Given the description of an element on the screen output the (x, y) to click on. 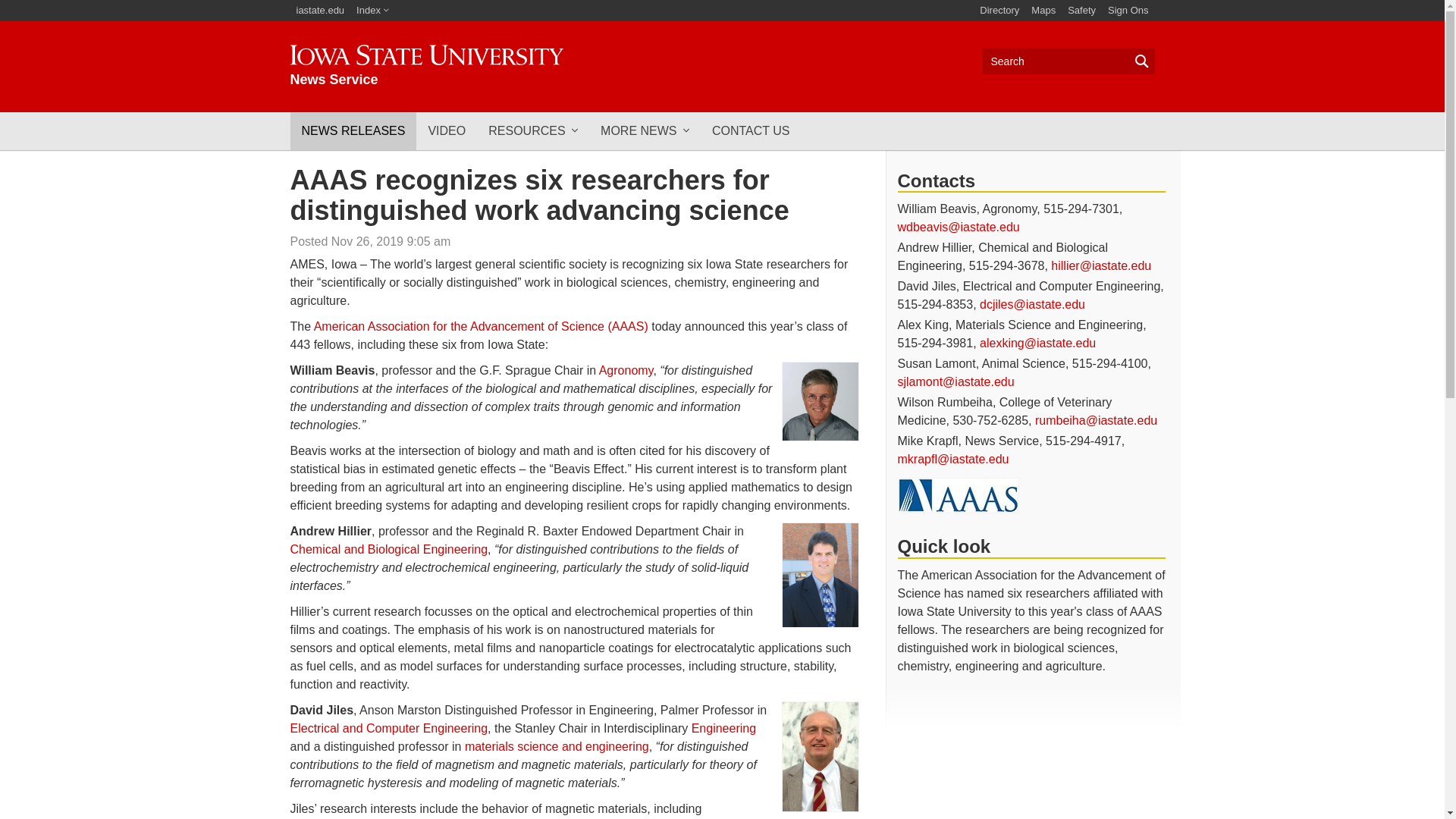
Home (425, 66)
Sign Ons (1128, 10)
Maps (1043, 10)
NEWS RELEASES (352, 130)
Tue, Nov 26, 2019 9:05:00 AM CST (390, 241)
VIDEO (446, 130)
Index (425, 66)
Directory (372, 10)
RESOURCES (999, 10)
iastate.edu (533, 130)
Search (319, 10)
Safety (1067, 61)
